Given the description of an element on the screen output the (x, y) to click on. 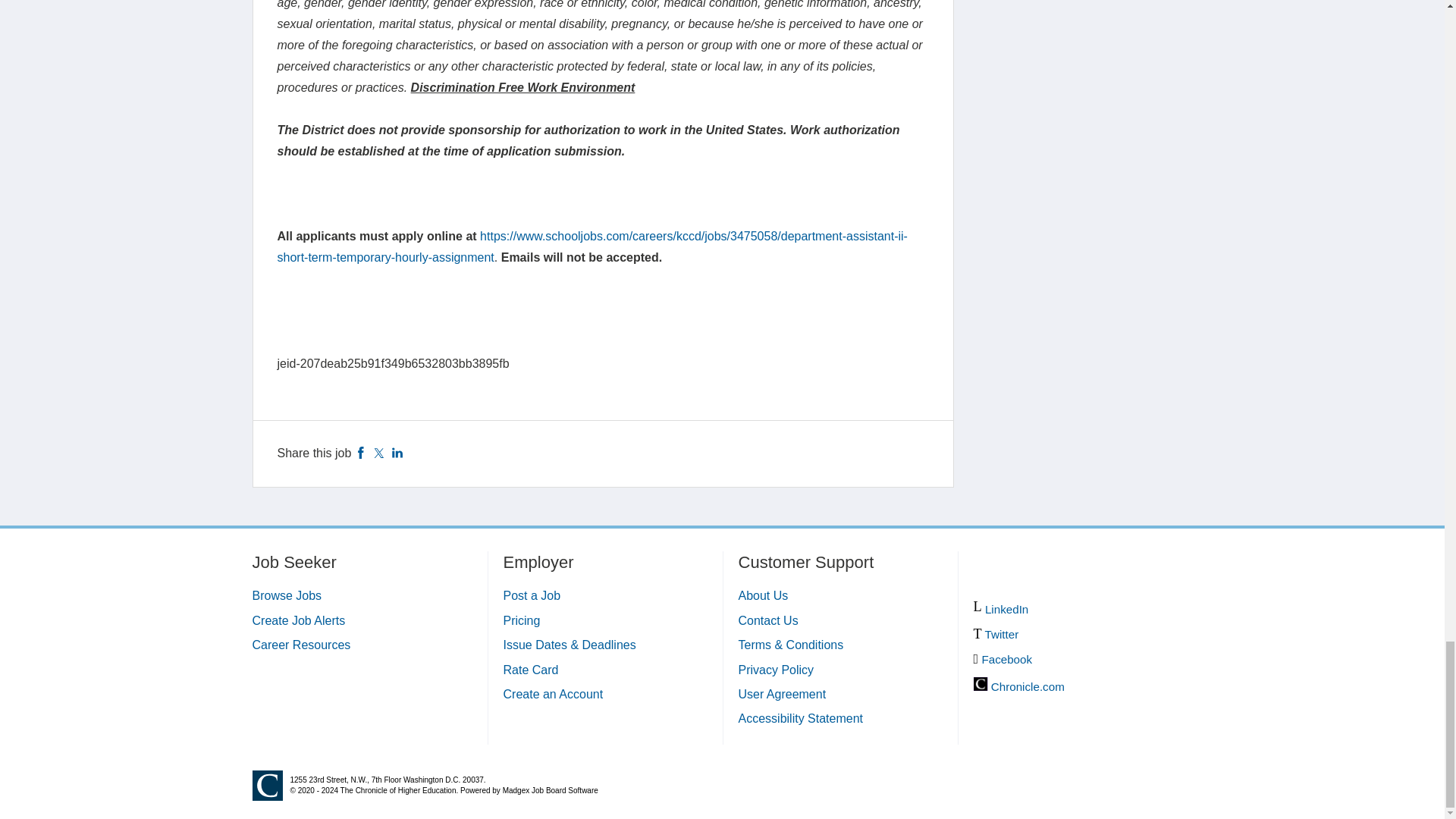
Create Job Alerts (298, 620)
Browse Jobs (286, 594)
LinkedIn (397, 452)
Facebook (360, 452)
Twitter (378, 452)
Discrimination Free Work Environment (522, 87)
Career Resources (300, 644)
